Given the description of an element on the screen output the (x, y) to click on. 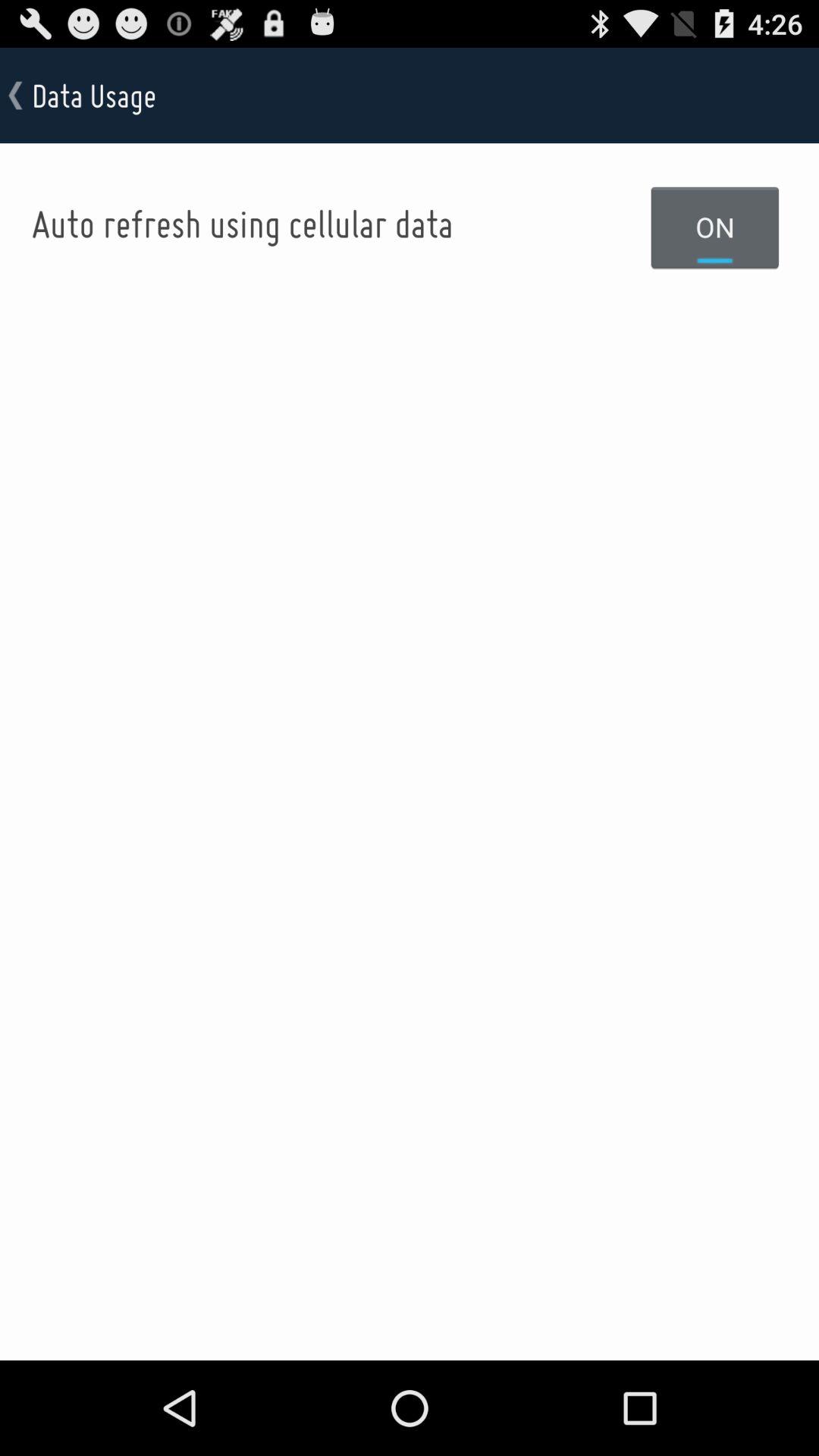
launch the on (714, 226)
